Given the description of an element on the screen output the (x, y) to click on. 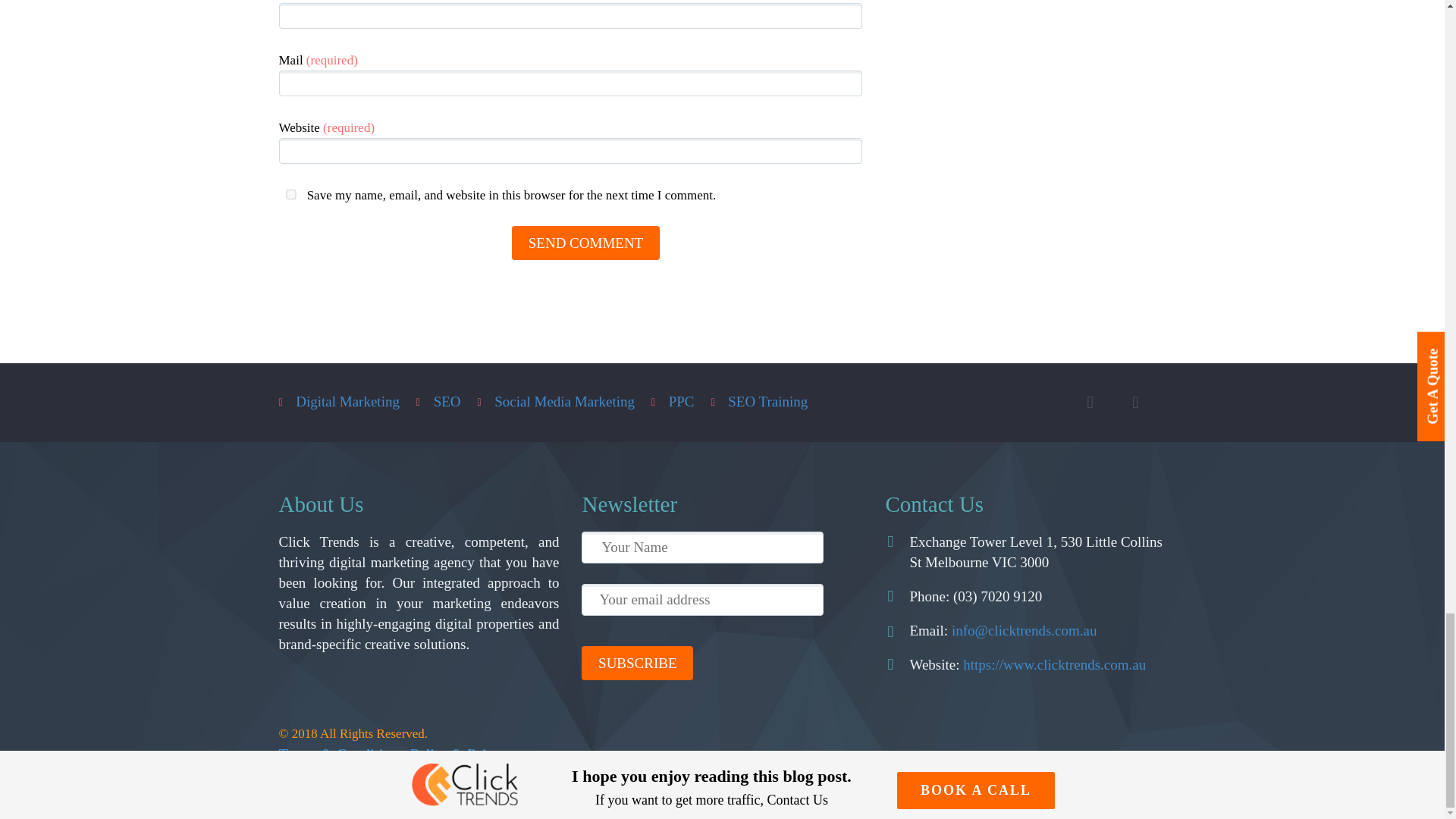
yes (290, 194)
Send Comment (585, 242)
Send Comment (585, 242)
Subscribe (636, 662)
